Given the description of an element on the screen output the (x, y) to click on. 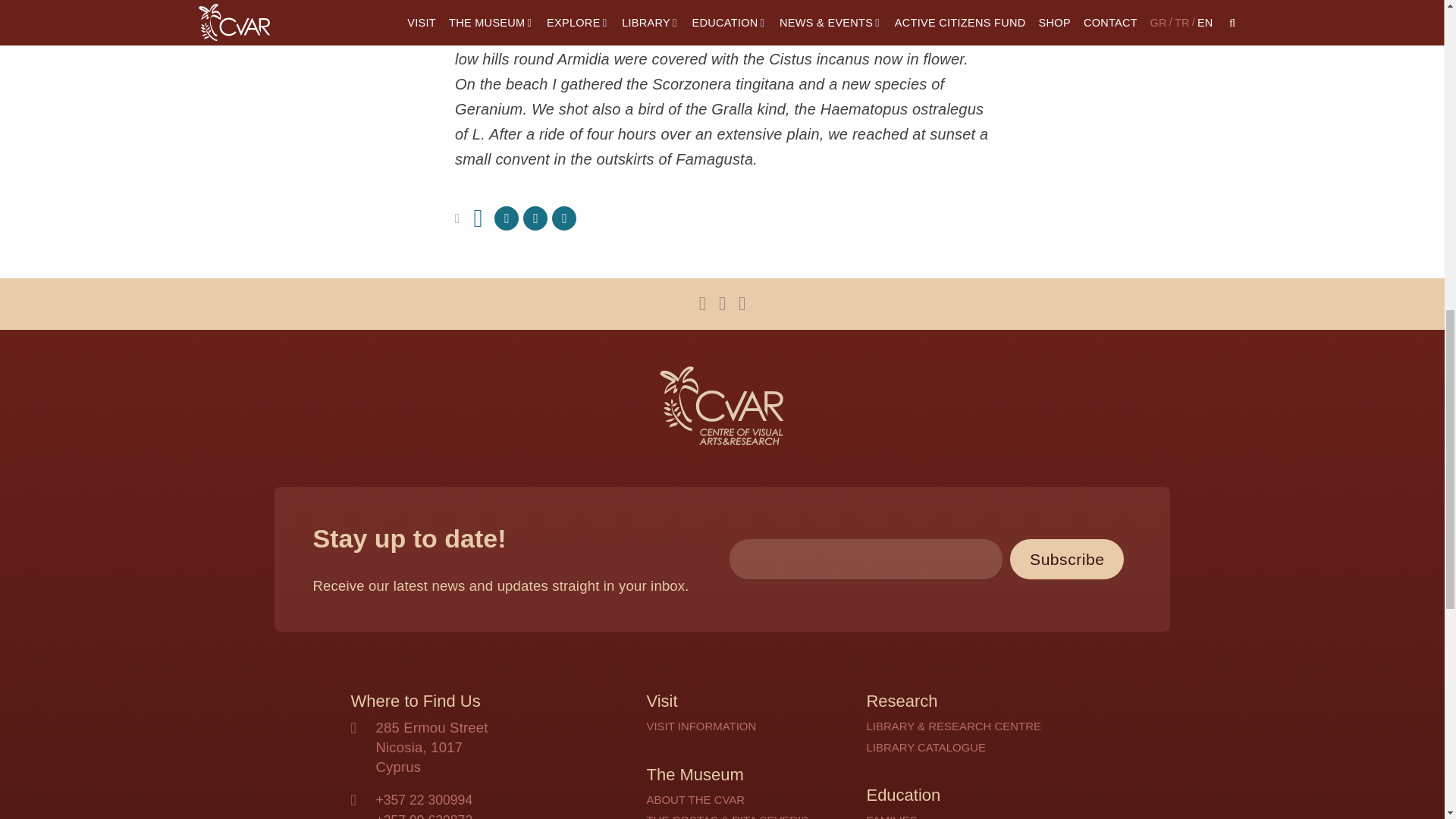
Subscribe (1067, 558)
